Given the description of an element on the screen output the (x, y) to click on. 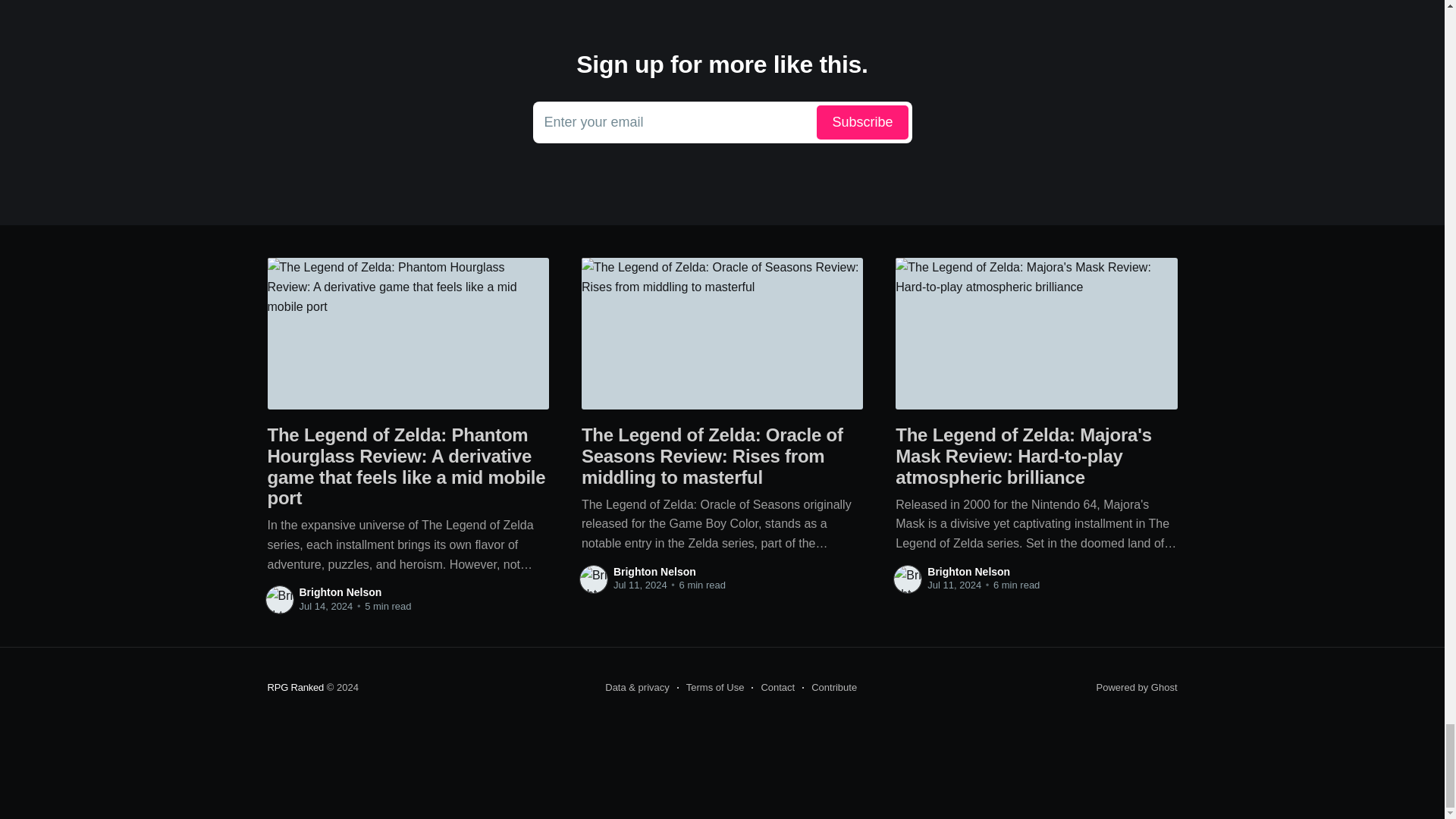
Terms of Use (710, 687)
Powered by Ghost (1136, 686)
Brighton Nelson (968, 571)
Brighton Nelson (653, 571)
Contribute (829, 687)
RPG Ranked (294, 686)
Brighton Nelson (721, 122)
Contact (339, 592)
